Given the description of an element on the screen output the (x, y) to click on. 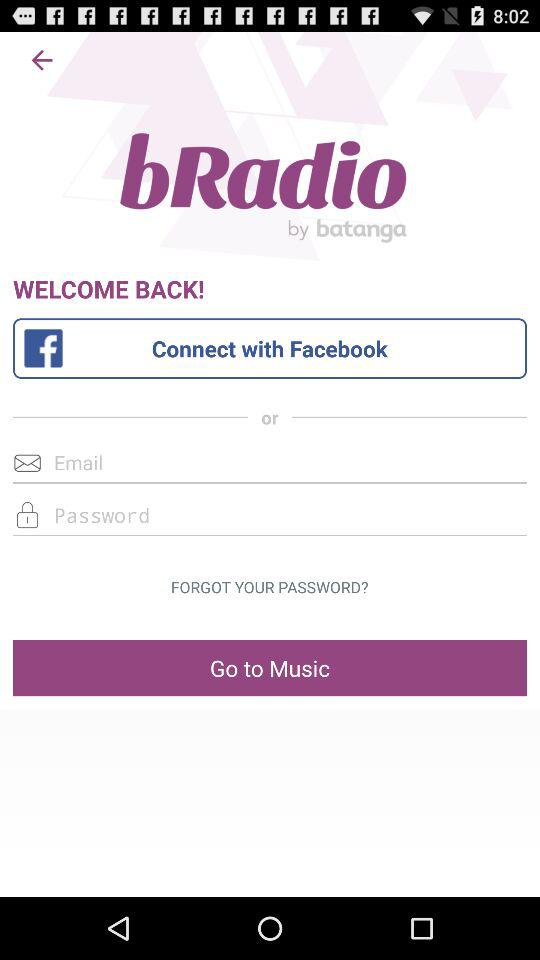
type in email address (269, 462)
